Given the description of an element on the screen output the (x, y) to click on. 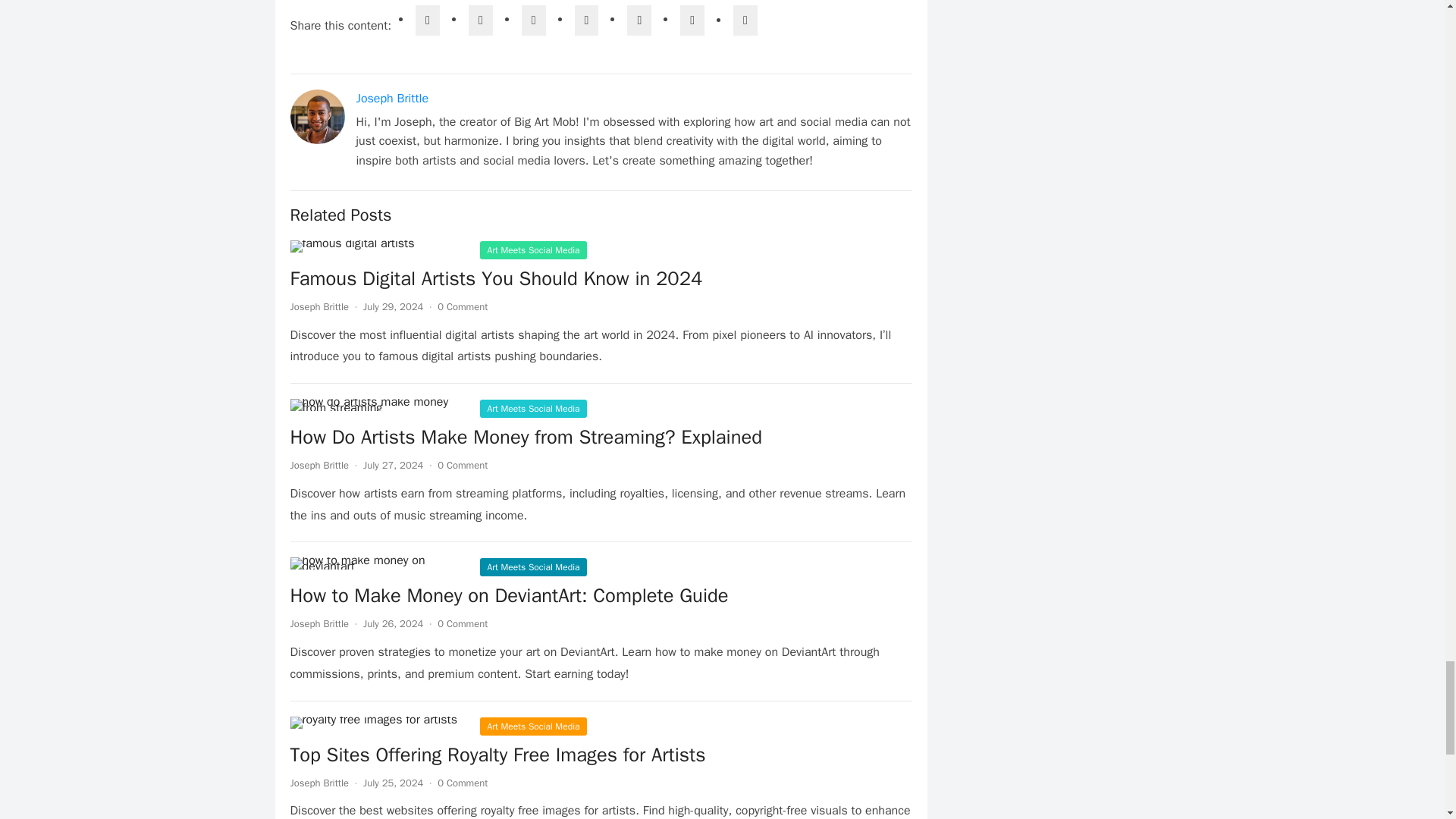
Posts by Joseph Brittle (319, 623)
Posts by Joseph Brittle (319, 782)
Posts by Joseph Brittle (319, 464)
Posts by Joseph Brittle (319, 306)
